Given the description of an element on the screen output the (x, y) to click on. 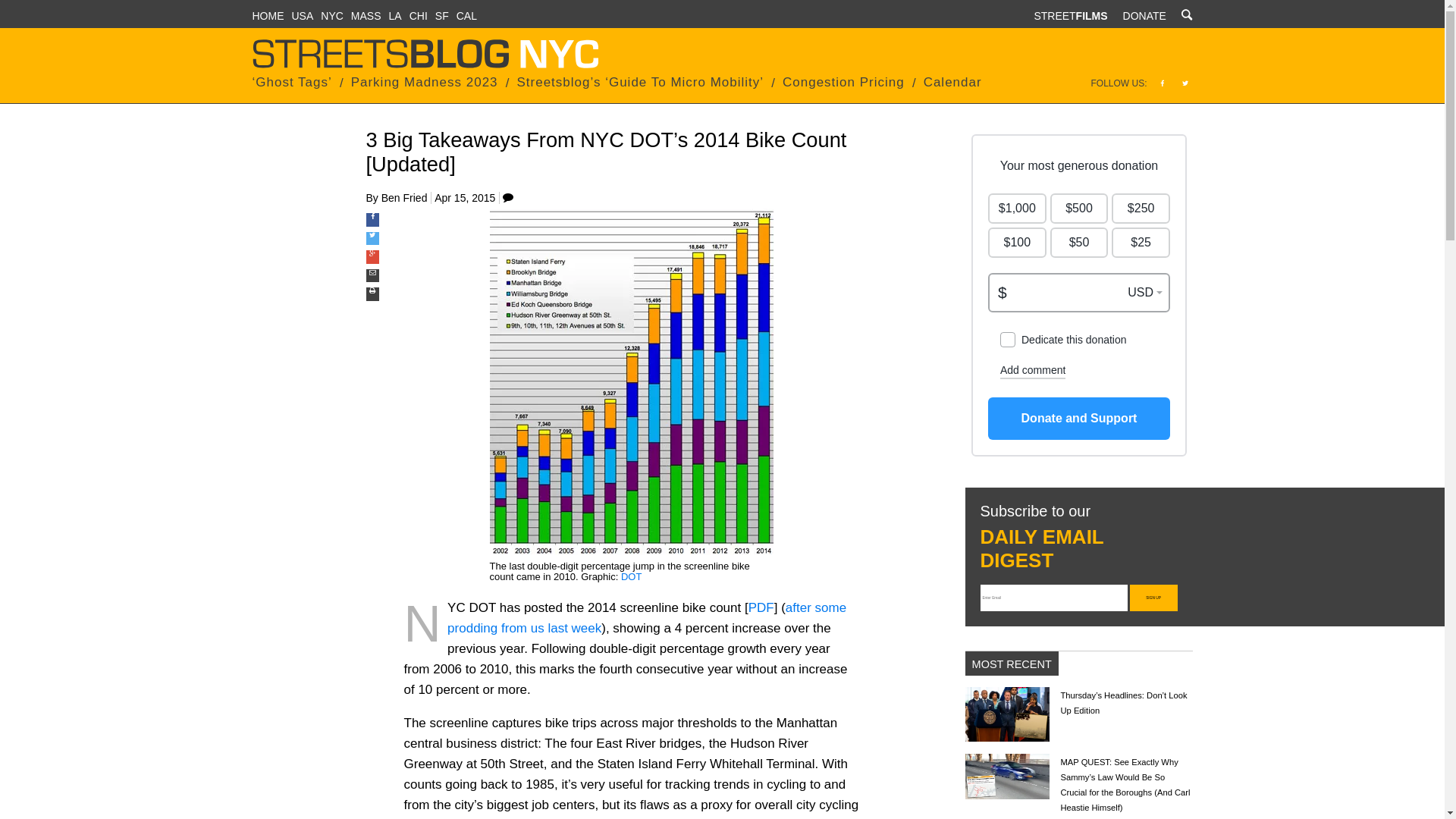
Congestion Pricing (843, 82)
NYC (331, 15)
DONATE (1144, 15)
USA (302, 15)
CAL (467, 15)
SF (441, 15)
LA (394, 15)
Parking Madness 2023 (423, 82)
MASS (365, 15)
Apr 15, 2015 (464, 197)
Ben Fried (404, 197)
CHI (418, 15)
HOME (267, 15)
STREETFILMS (1069, 15)
Calendar (952, 82)
